Given the description of an element on the screen output the (x, y) to click on. 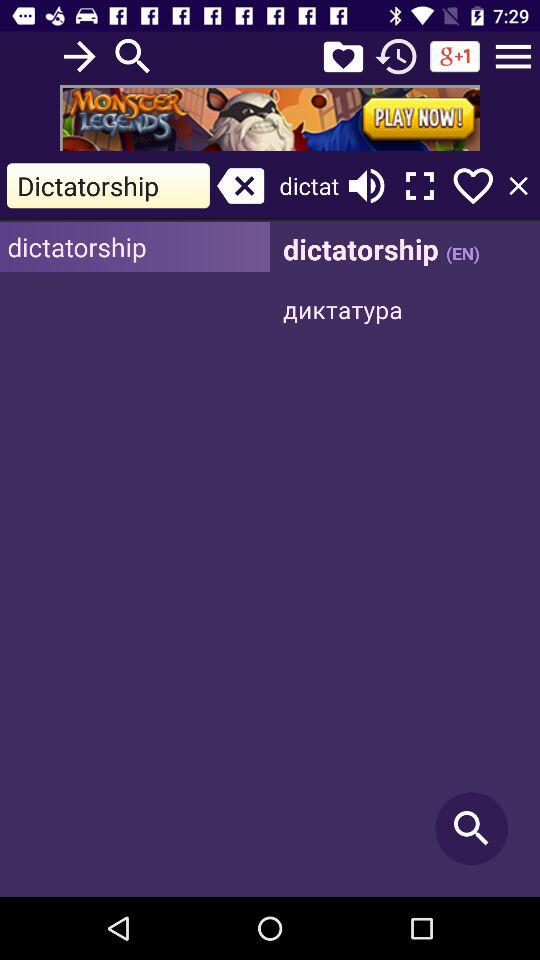
favorite option (473, 185)
